Given the description of an element on the screen output the (x, y) to click on. 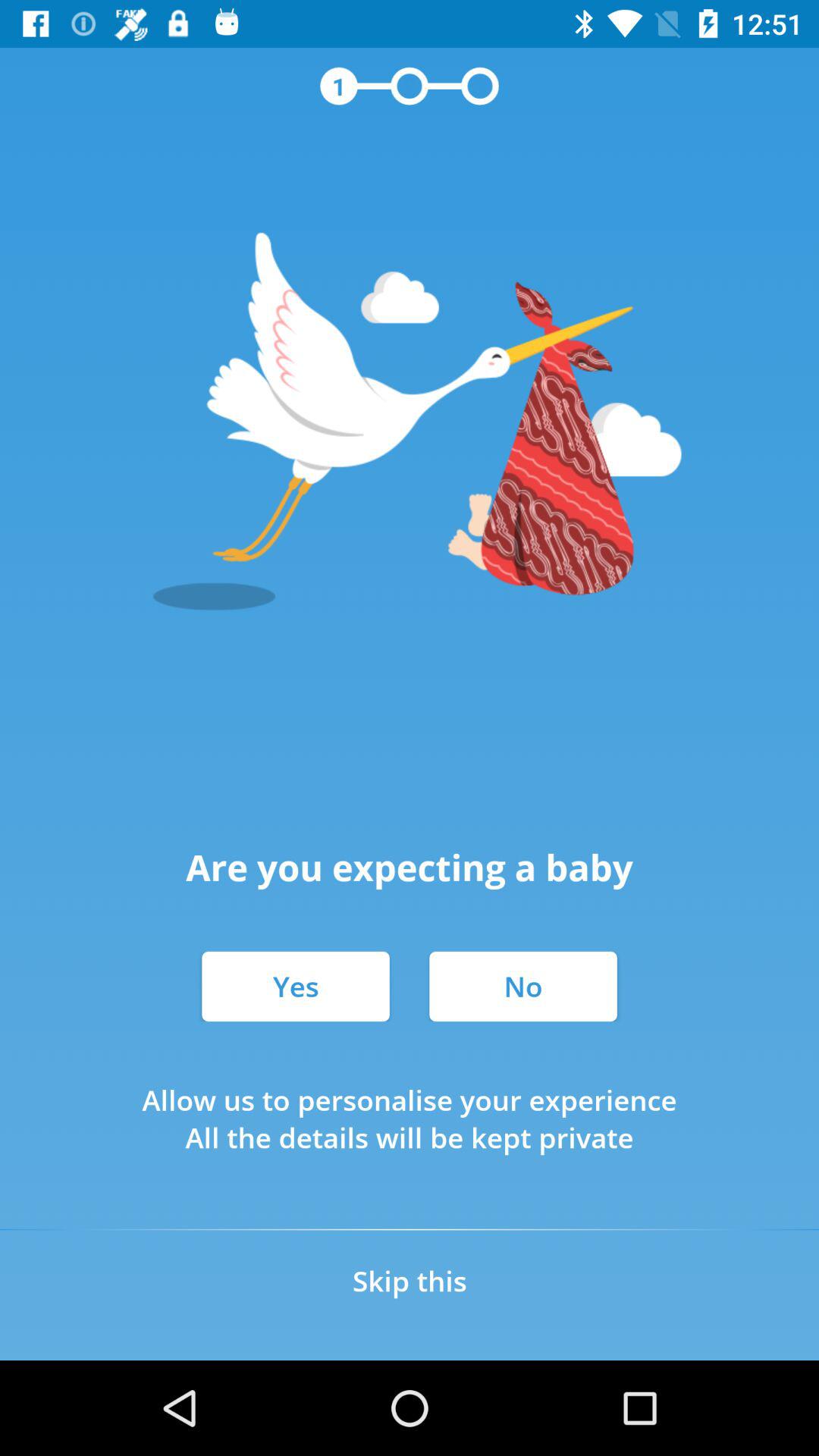
flip until the no (523, 986)
